Given the description of an element on the screen output the (x, y) to click on. 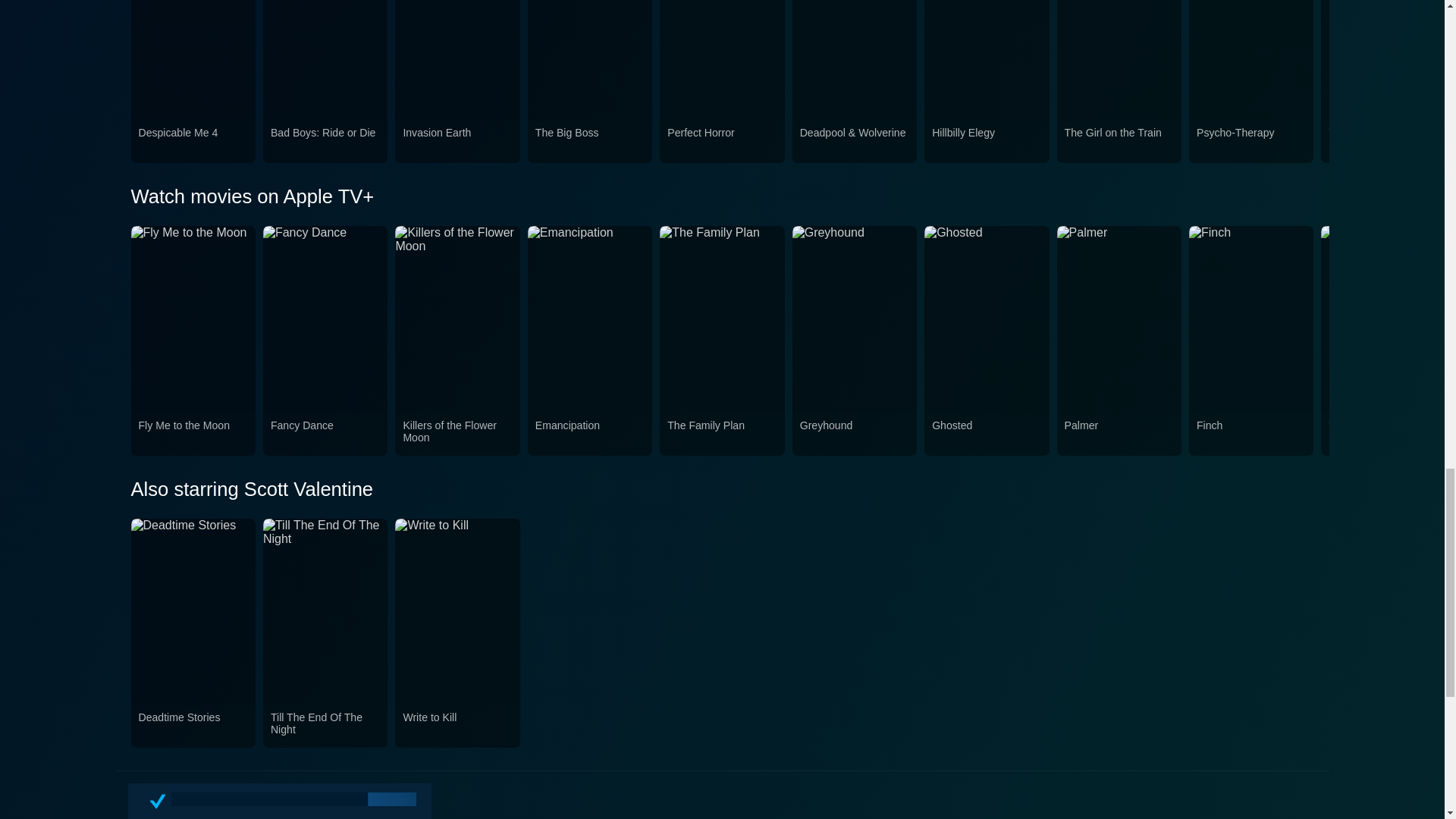
Bad Boys: Ride or Die (325, 141)
Perfect Horror (721, 141)
Hillbilly Elegy (986, 141)
Despicable Me 4 (192, 141)
Invasion Earth (457, 141)
The Big Boss (590, 141)
